Given the description of an element on the screen output the (x, y) to click on. 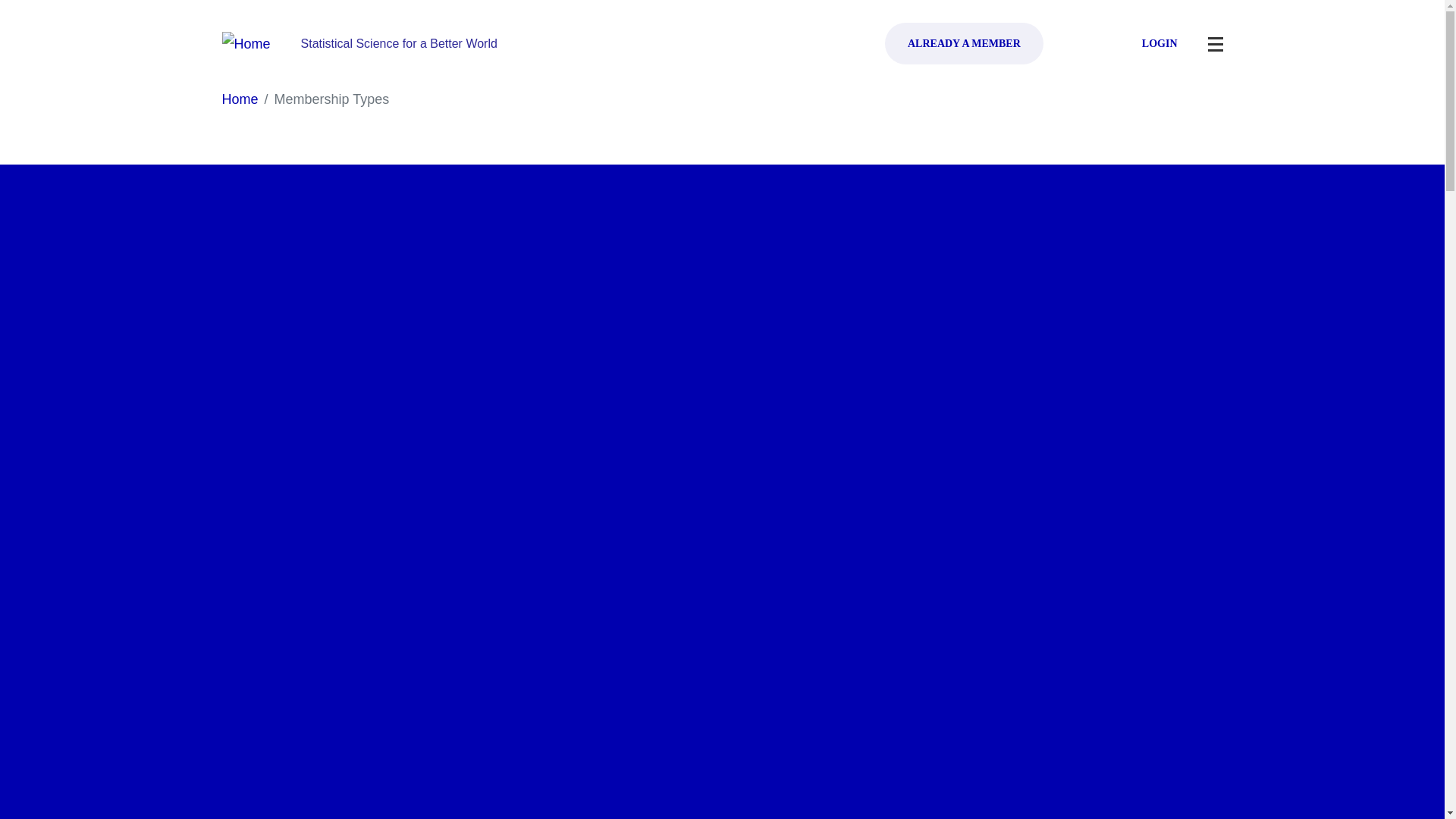
LOGIN (1148, 43)
ALREADY A MEMBER (964, 43)
